Given the description of an element on the screen output the (x, y) to click on. 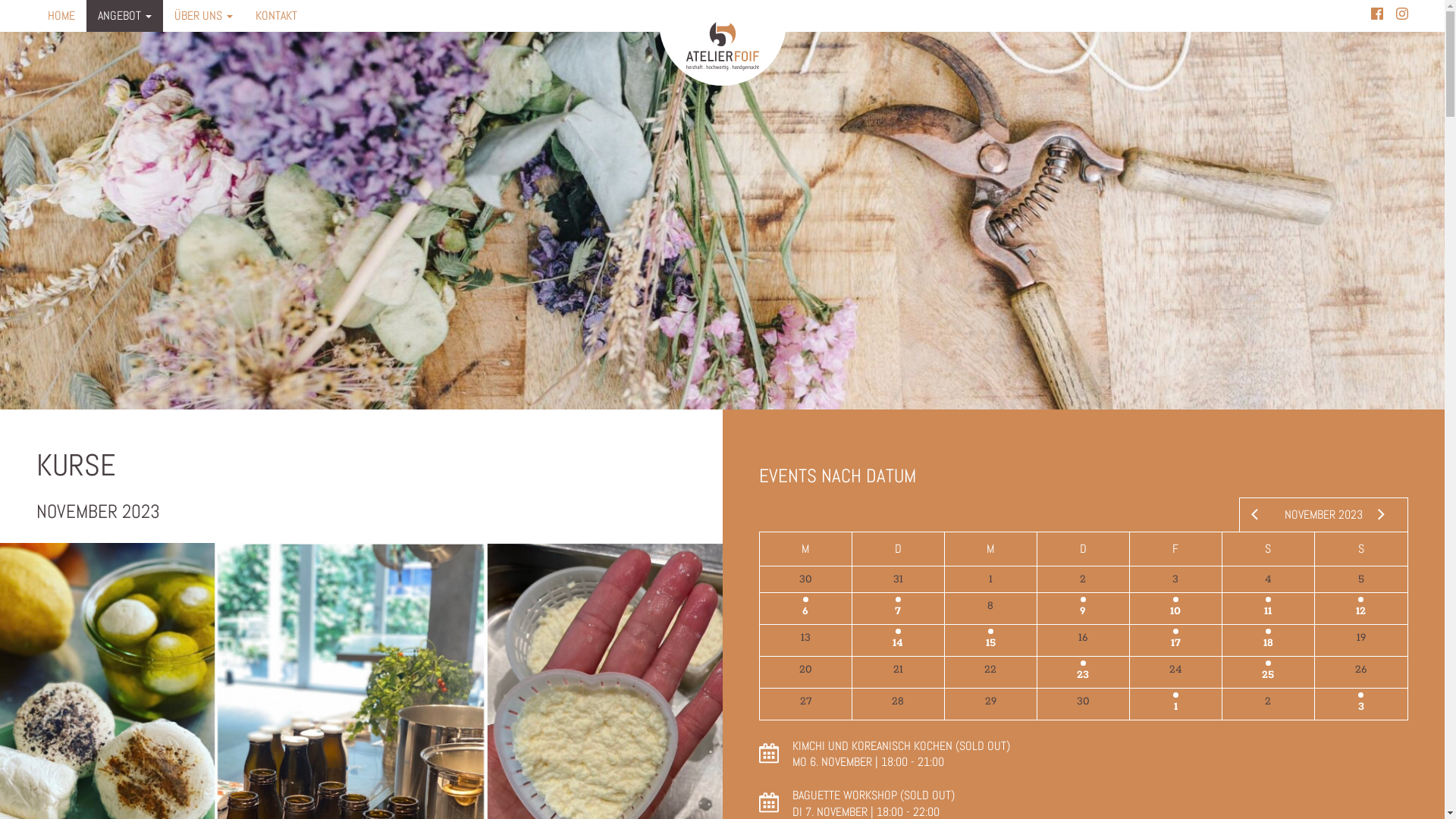
0 VERANSTALTUNGEN,
26 Element type: text (1360, 671)
Hat Veranstaltungen Element type: hover (1082, 599)
0 VERANSTALTUNGEN,
28 Element type: text (898, 703)
0 VERANSTALTUNGEN,
22 Element type: text (990, 671)
0 VERANSTALTUNGEN,
4 Element type: text (1268, 579)
1 VERANSTALTUNG,
18 Element type: text (1268, 639)
1 VERANSTALTUNG,
10 Element type: text (1175, 608)
0 VERANSTALTUNGEN,
21 Element type: text (898, 671)
Vorheriger Monat Element type: hover (1248, 514)
1 VERANSTALTUNG,
23 Element type: text (1083, 671)
Hat Veranstaltungen Element type: hover (897, 599)
0 VERANSTALTUNGEN,
27 Element type: text (805, 703)
0 VERANSTALTUNGEN,
20 Element type: text (805, 671)
1 VERANSTALTUNG,
25 Element type: text (1268, 671)
0 VERANSTALTUNGEN,
30 Element type: text (805, 579)
Hat Veranstaltungen Element type: hover (1360, 599)
KONTAKT Element type: text (276, 15)
1 VERANSTALTUNG,
17 Element type: text (1175, 639)
Hat Veranstaltungen Element type: hover (1267, 662)
Hat Veranstaltungen Element type: hover (1175, 630)
1 VERANSTALTUNG,
15 Element type: text (990, 639)
0 VERANSTALTUNGEN,
19 Element type: text (1360, 639)
BAGUETTE WORKSHOP (SOLD OUT) Element type: text (872, 795)
HOME Element type: text (61, 15)
0 VERANSTALTUNGEN,
8 Element type: text (990, 608)
Hat Veranstaltungen Element type: hover (1175, 694)
1 VERANSTALTUNG,
3 Element type: text (1360, 703)
0 VERANSTALTUNGEN,
5 Element type: text (1360, 579)
1 VERANSTALTUNG,
14 Element type: text (898, 639)
0 VERANSTALTUNGEN,
31 Element type: text (898, 579)
Hat Veranstaltungen Element type: hover (1175, 599)
ANGEBOT Element type: text (124, 15)
1 VERANSTALTUNG,
1 Element type: text (1175, 703)
0 VERANSTALTUNGEN,
24 Element type: text (1175, 671)
0 VERANSTALTUNGEN,
16 Element type: text (1083, 639)
KIMCHI UND KOREANISCH KOCHEN (SOLD OUT) Element type: text (900, 745)
Hat Veranstaltungen Element type: hover (1082, 662)
Hat Veranstaltungen Element type: hover (1267, 630)
Hat Veranstaltungen Element type: hover (805, 599)
Hat Veranstaltungen Element type: hover (1267, 599)
1 VERANSTALTUNG,
9 Element type: text (1083, 608)
0 VERANSTALTUNGEN,
13 Element type: text (805, 639)
0 VERANSTALTUNGEN,
1 Element type: text (990, 579)
0 VERANSTALTUNGEN,
29 Element type: text (990, 703)
Hat Veranstaltungen Element type: hover (1360, 694)
0 VERANSTALTUNGEN,
2 Element type: text (1268, 703)
1 VERANSTALTUNG,
7 Element type: text (898, 608)
2 VERANSTALTUNGEN,
12 Element type: text (1360, 608)
0 VERANSTALTUNGEN,
30 Element type: text (1083, 703)
1 VERANSTALTUNG,
11 Element type: text (1268, 608)
0 VERANSTALTUNGEN,
3 Element type: text (1175, 579)
Hat Veranstaltungen Element type: hover (990, 630)
0 VERANSTALTUNGEN,
2 Element type: text (1083, 579)
1 VERANSTALTUNG,
6 Element type: text (805, 608)
Hat Veranstaltungen Element type: hover (897, 630)
